Given the description of an element on the screen output the (x, y) to click on. 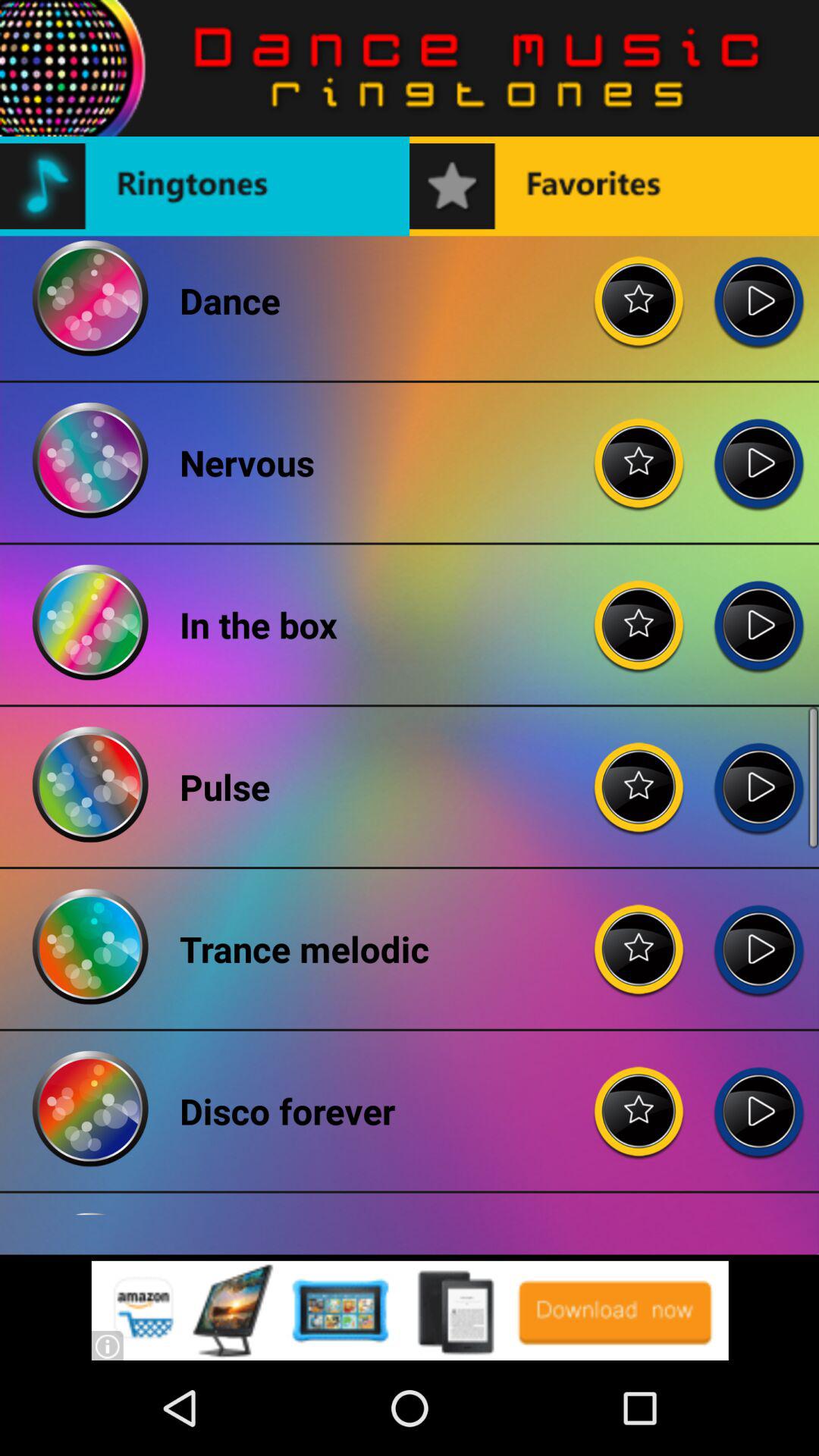
click to download (409, 1310)
